Given the description of an element on the screen output the (x, y) to click on. 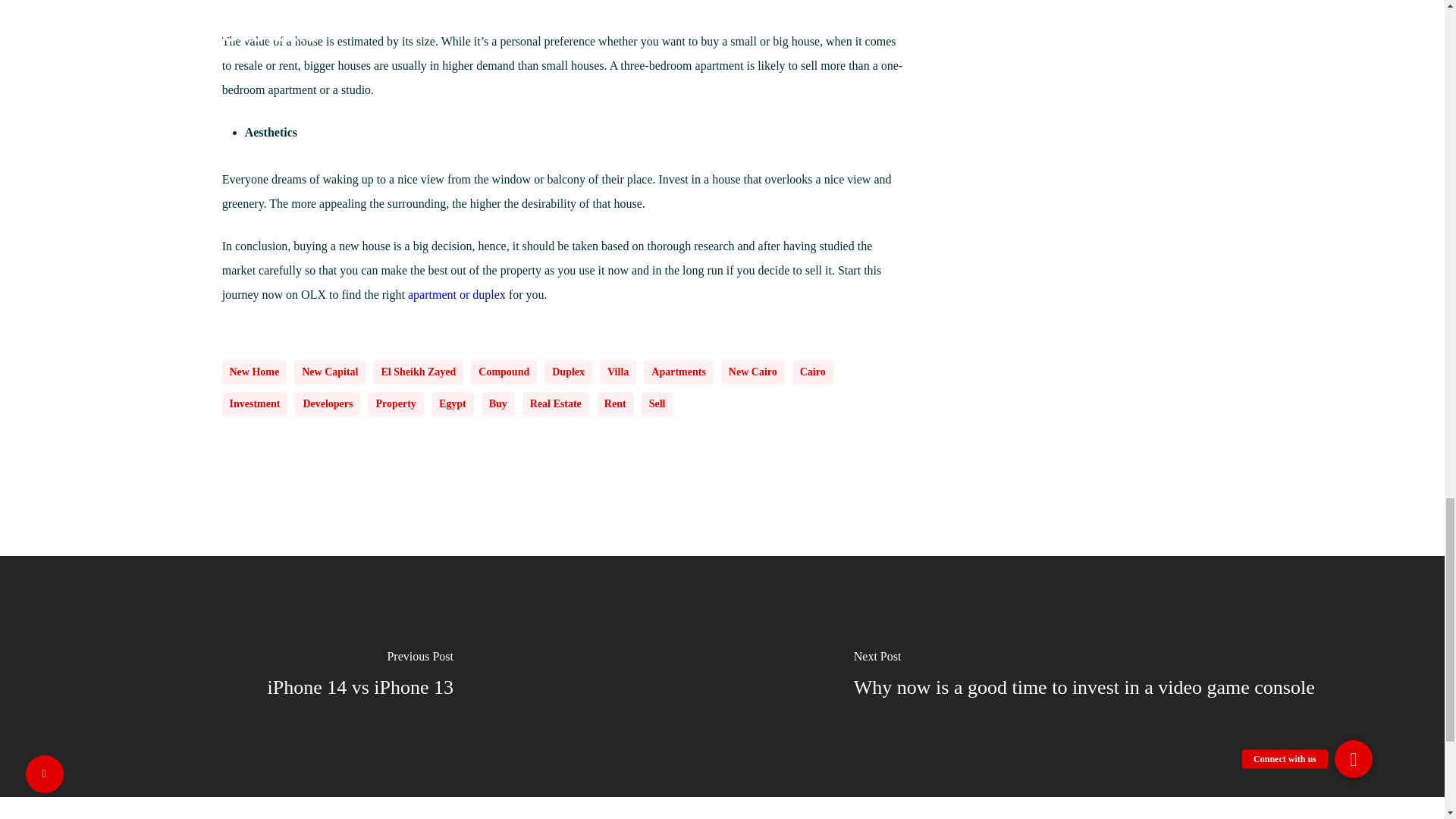
Rent (614, 404)
Buy (498, 404)
Cairo (812, 372)
Property (395, 404)
Villa (617, 372)
Egypt (452, 404)
Real Estate (555, 404)
Duplex (568, 372)
New Cairo (752, 372)
Compound (503, 372)
